Given the description of an element on the screen output the (x, y) to click on. 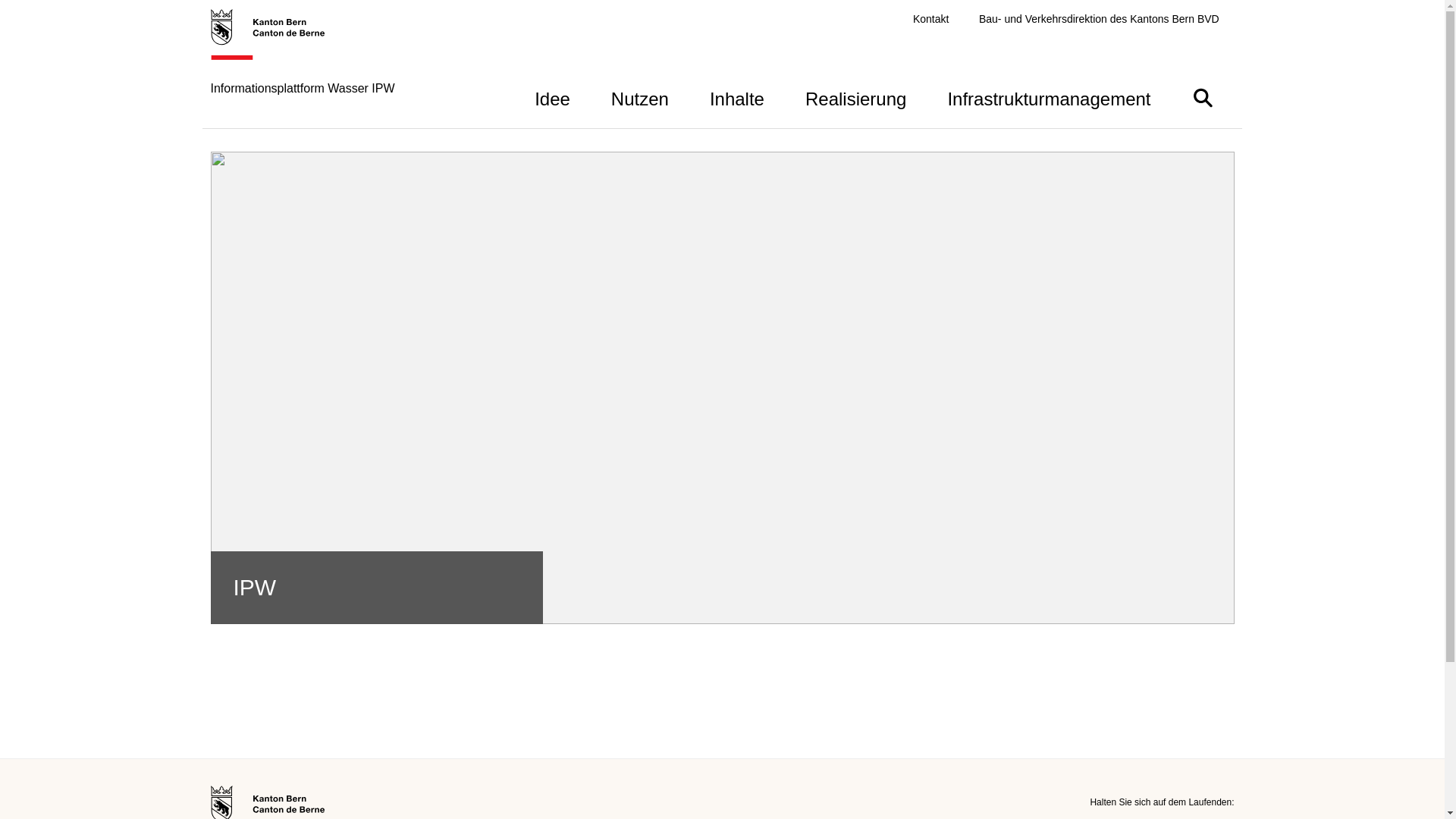
Realisierung Element type: text (855, 96)
Bau- und Verkehrsdirektion des Kantons Bern BVD Element type: text (1099, 19)
Inhalte Element type: text (736, 96)
Kontakt Element type: text (930, 19)
Idee Element type: text (552, 96)
Suche ein- oder ausblenden Element type: text (1201, 96)
Infrastrukturmanagement Element type: text (1048, 96)
Nutzen Element type: text (639, 96)
Informationsplattform Wasser IPW Element type: text (302, 68)
